Given the description of an element on the screen output the (x, y) to click on. 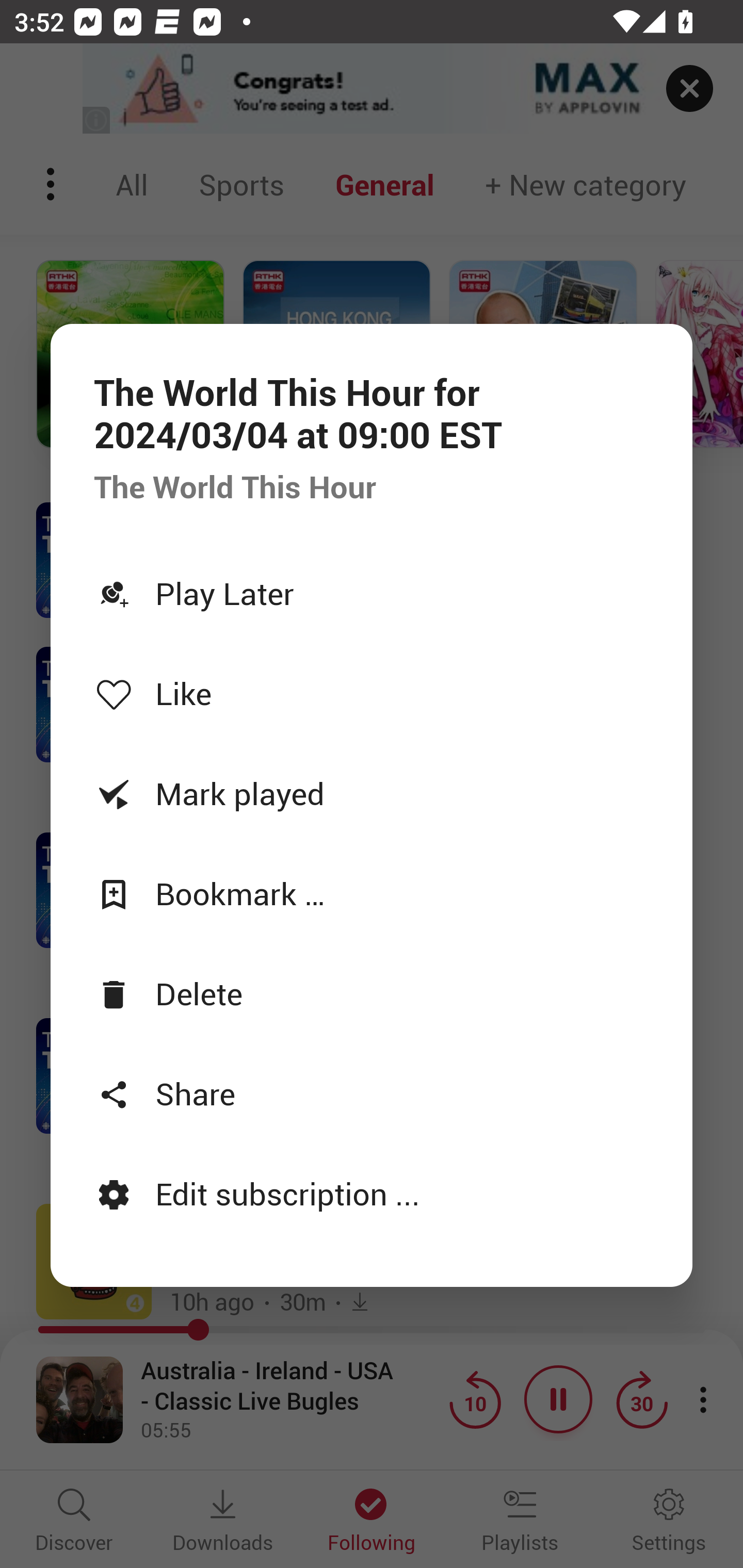
Play Later (371, 592)
Like (371, 692)
Mark played (371, 793)
Bookmark … (371, 893)
Delete (371, 992)
Share (371, 1092)
Edit subscription ... (371, 1193)
